Given the description of an element on the screen output the (x, y) to click on. 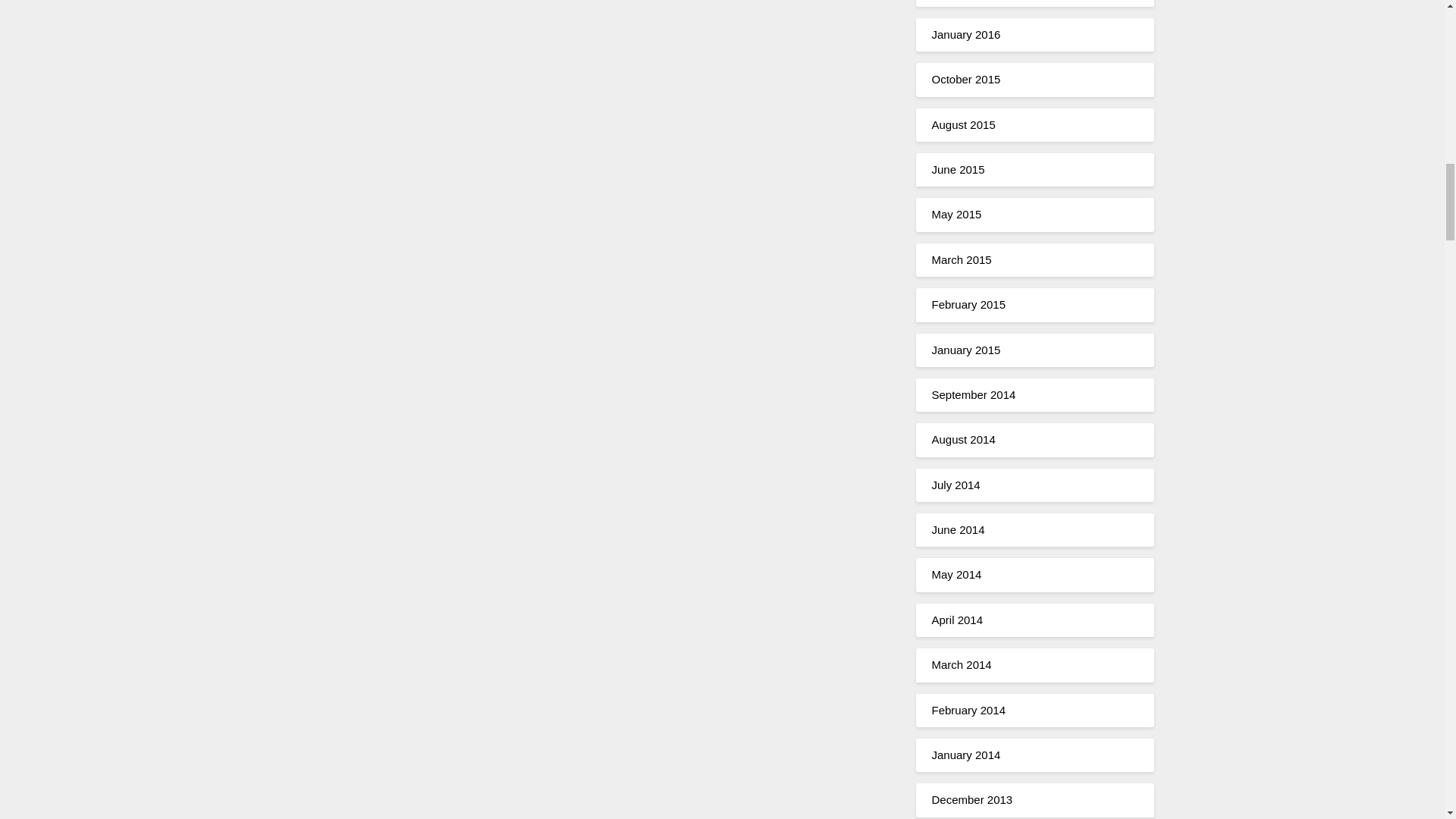
January 2015 (965, 349)
March 2015 (961, 259)
May 2015 (956, 214)
August 2015 (962, 124)
January 2016 (965, 33)
October 2015 (965, 78)
February 2015 (968, 304)
June 2015 (957, 169)
September 2014 (972, 394)
